Given the description of an element on the screen output the (x, y) to click on. 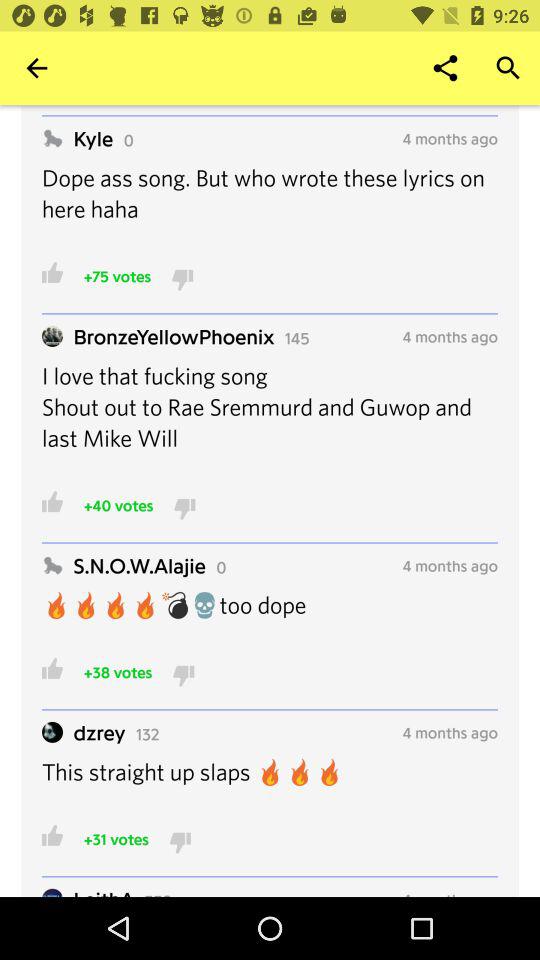
tap the dope ass song icon (270, 206)
